Given the description of an element on the screen output the (x, y) to click on. 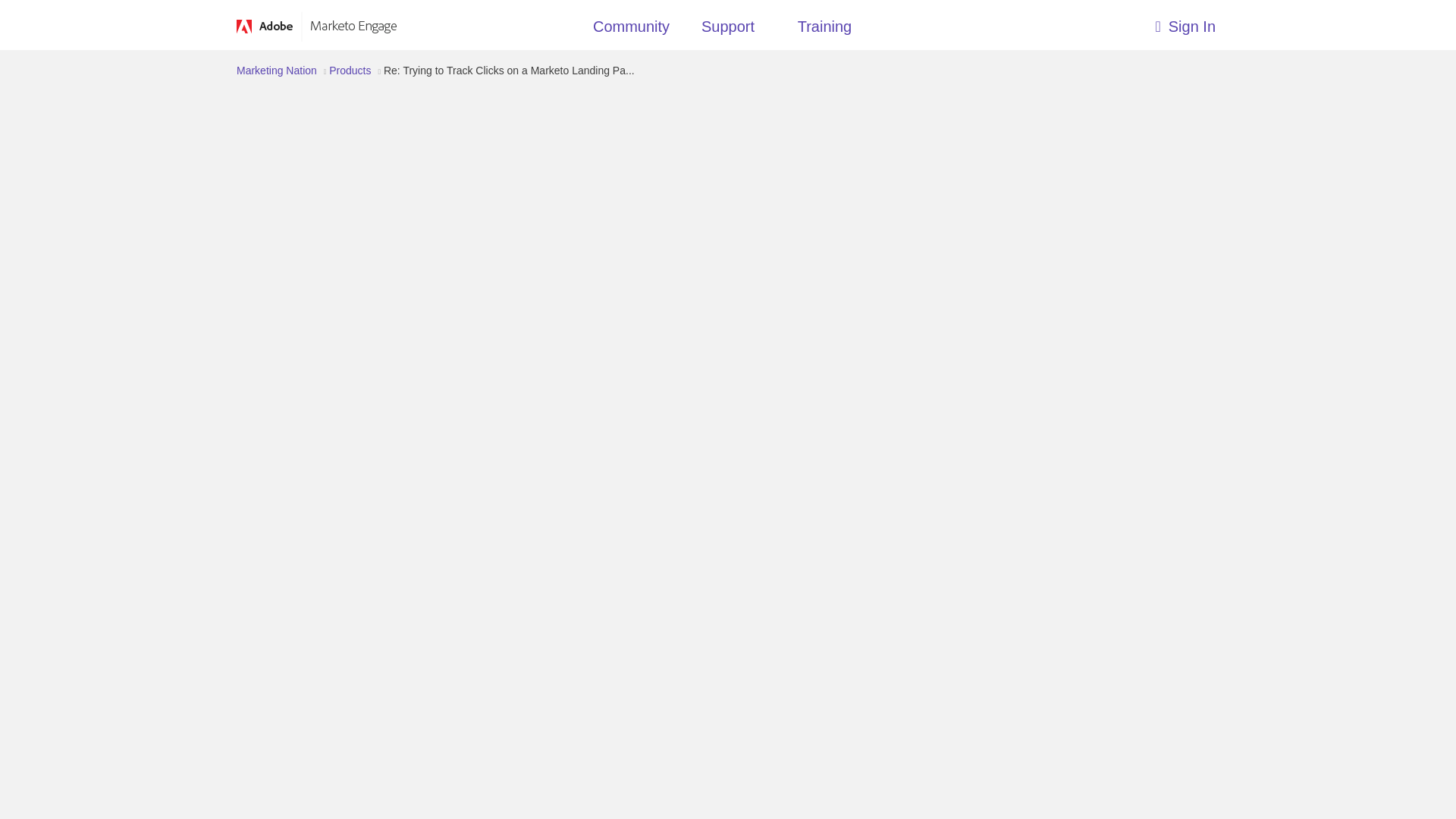
Community (630, 30)
Products (350, 70)
Training (824, 30)
Marketing Nation (276, 70)
Support (727, 30)
Sign In (1095, 22)
